Given the description of an element on the screen output the (x, y) to click on. 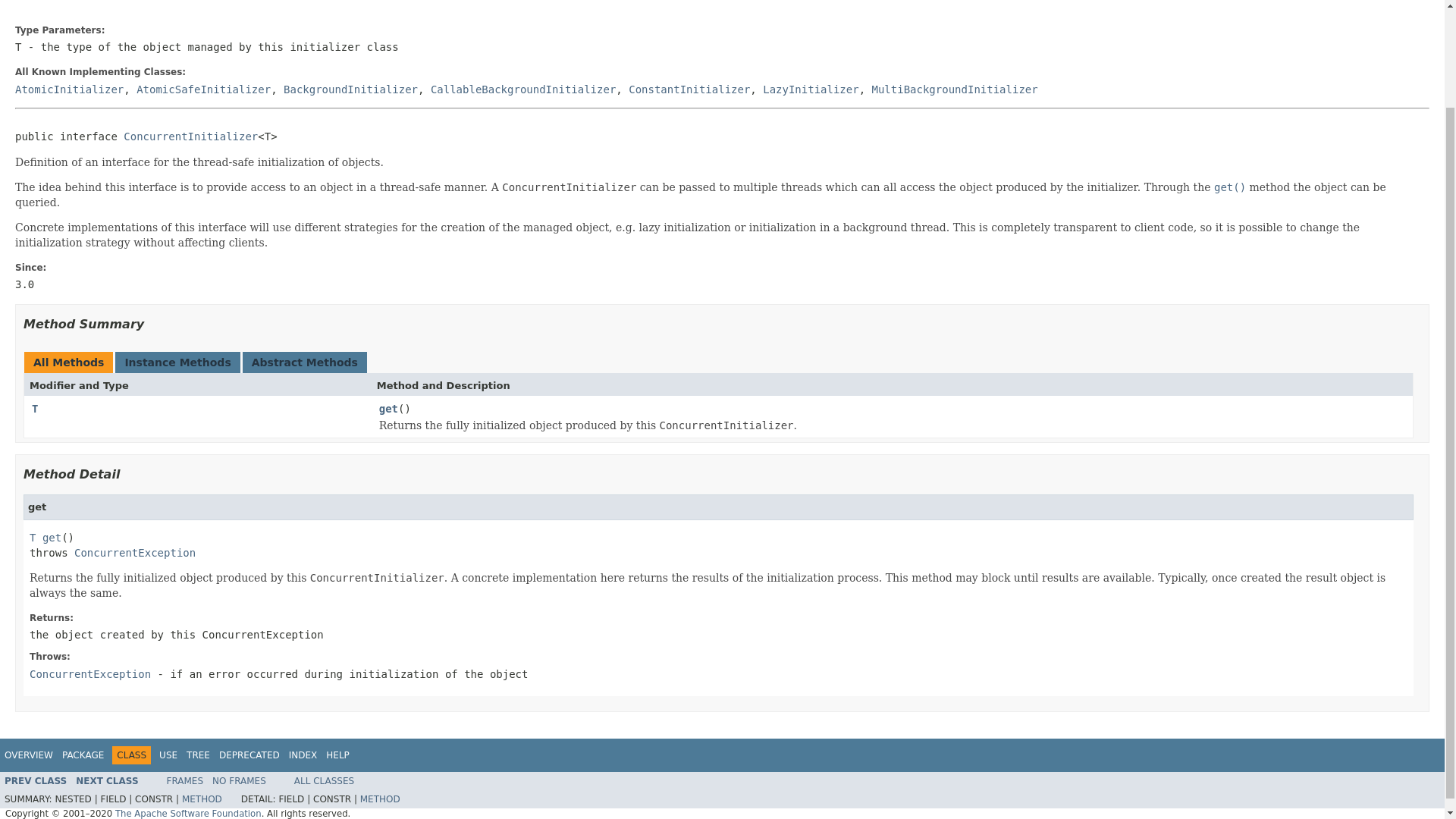
LazyInitializer (810, 89)
AtomicSafeInitializer (203, 89)
class in org.apache.commons.lang3.concurrent (688, 89)
class in org.apache.commons.lang3.concurrent (350, 89)
class in org.apache.commons.lang3.concurrent (90, 674)
get (387, 409)
MultiBackgroundInitializer (955, 89)
CallableBackgroundInitializer (522, 89)
class in org.apache.commons.lang3.concurrent (35, 780)
AtomicInitializer (68, 89)
